Given the description of an element on the screen output the (x, y) to click on. 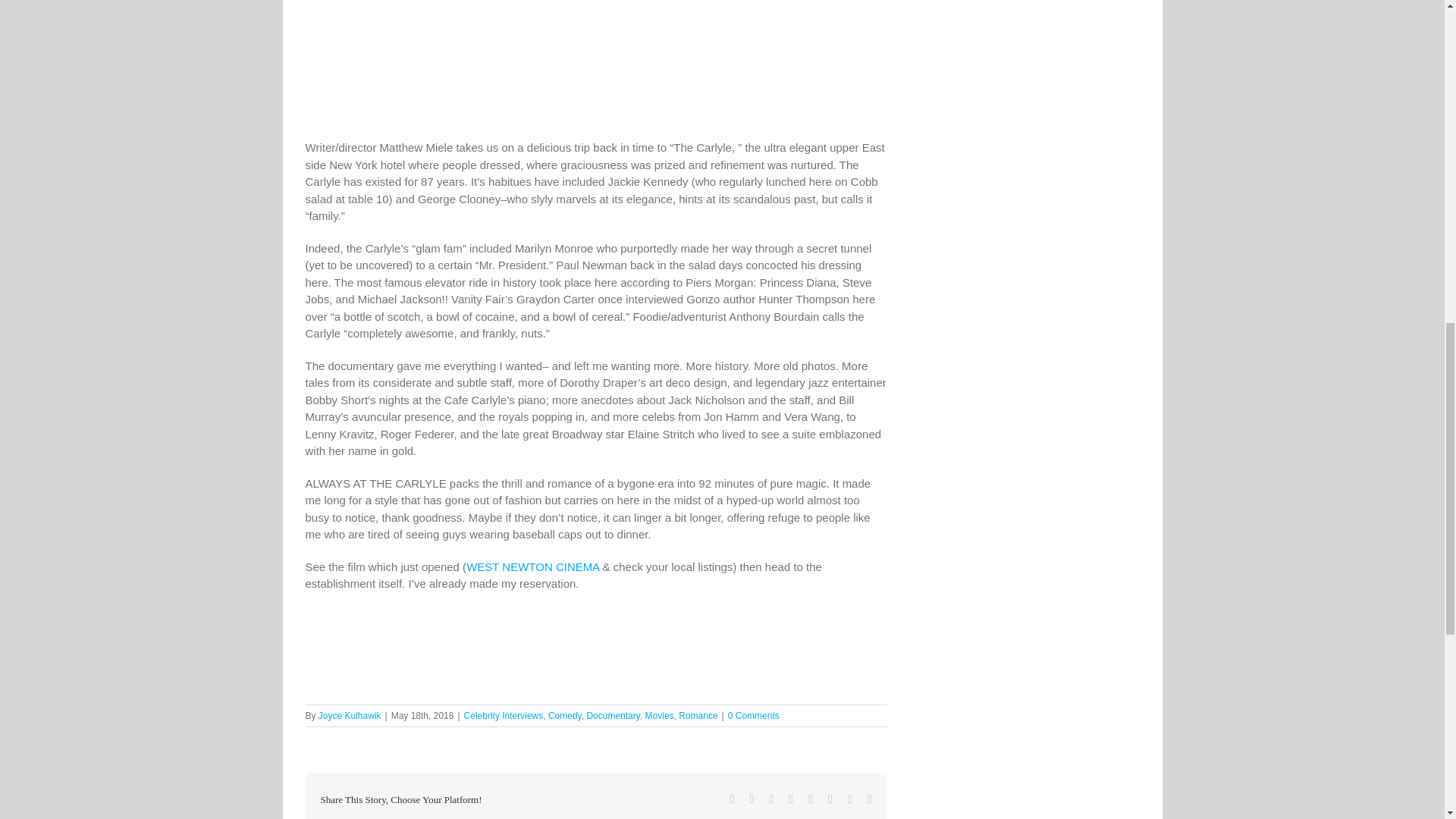
YouTube video player 1 (532, 264)
Comedy (564, 715)
Joyce Kulhawik (349, 715)
WEST NEWTON CINEMA (531, 566)
Romance (697, 715)
0 Comments (753, 715)
Posts by Joyce Kulhawik (349, 715)
Celebrity Interviews (503, 715)
Movies (659, 715)
Documentary (612, 715)
